Given the description of an element on the screen output the (x, y) to click on. 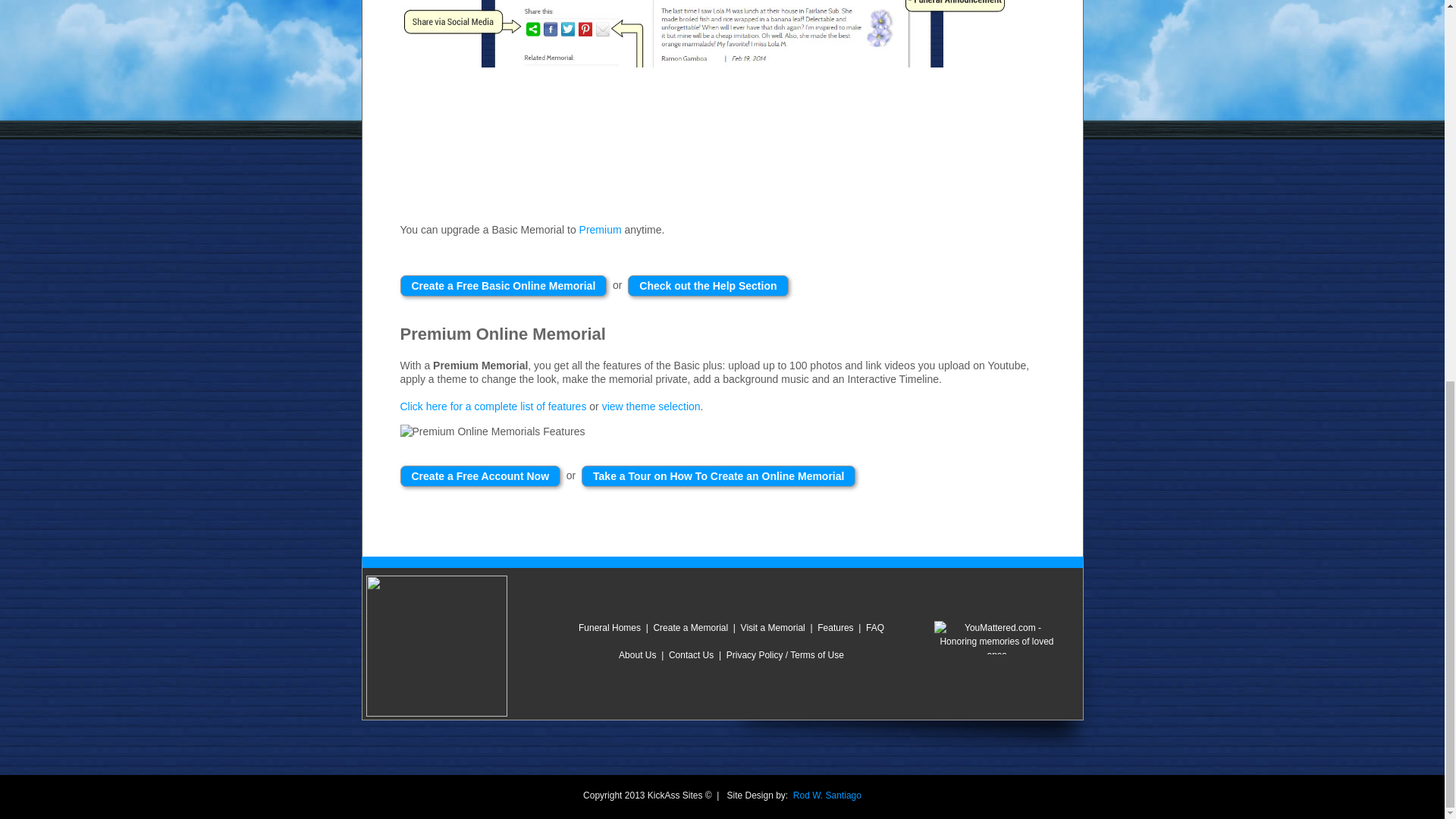
Premium (600, 229)
About Us (637, 655)
Create a Free Basic Online Memorial (503, 285)
Contact Us (690, 655)
FAQ (874, 627)
Create a Memorial (690, 627)
Take a Tour on How To Create an Online Memorial (718, 475)
view theme selection (651, 406)
Funeral Homes (609, 627)
Click here for a complete list of features (493, 406)
Rod W. Santiago (827, 795)
Visit a Memorial (773, 627)
Check out the Help Section (707, 285)
Create a Free Account Now (480, 475)
Features (834, 627)
